Given the description of an element on the screen output the (x, y) to click on. 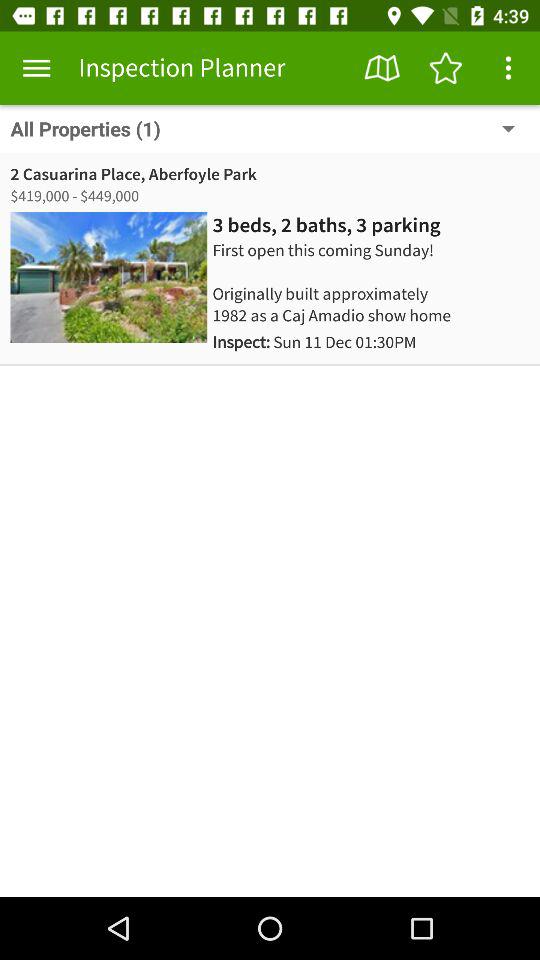
click the item below 2 casuarina place item (326, 225)
